Given the description of an element on the screen output the (x, y) to click on. 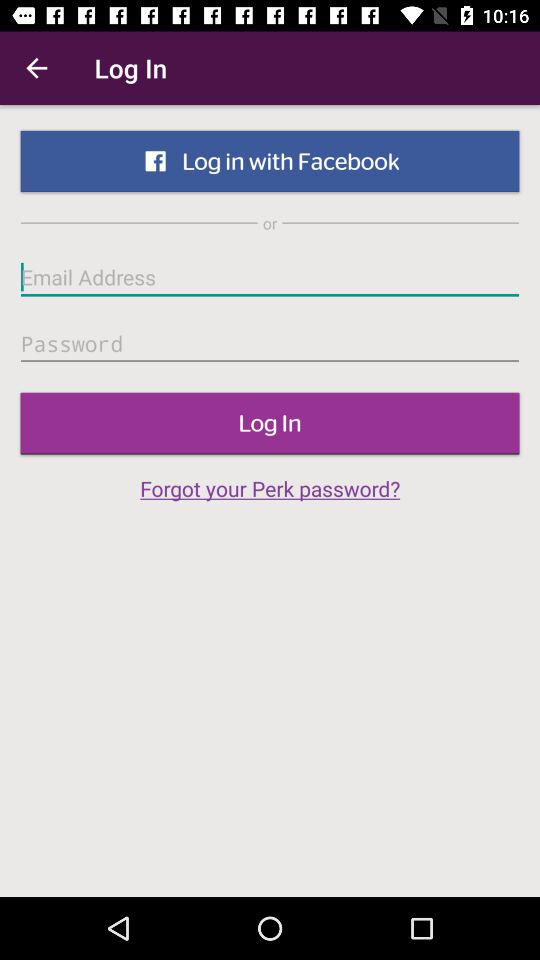
enter your password (269, 344)
